Given the description of an element on the screen output the (x, y) to click on. 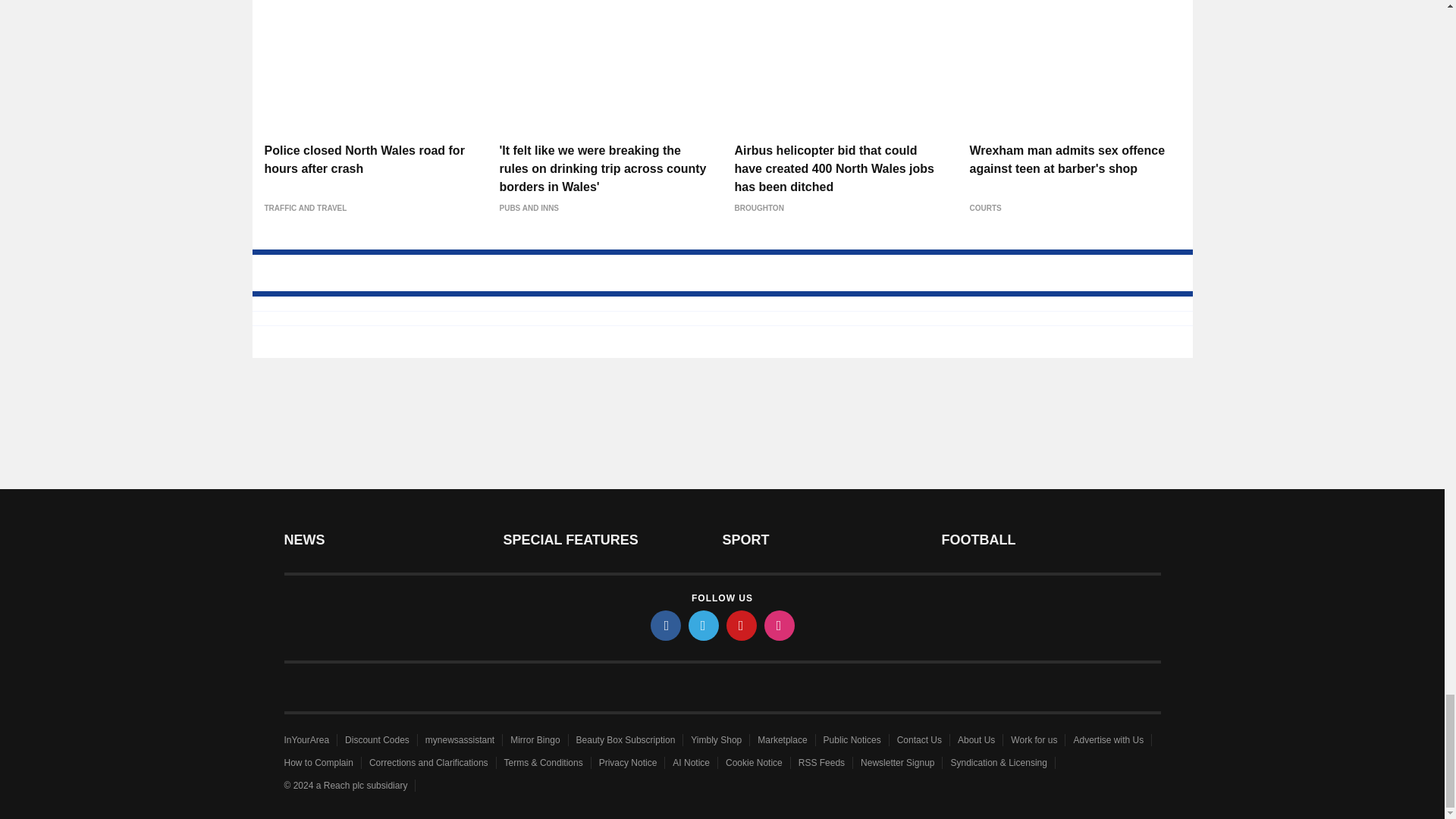
facebook (665, 625)
instagram (779, 625)
pinterest (741, 625)
twitter (703, 625)
